Given the description of an element on the screen output the (x, y) to click on. 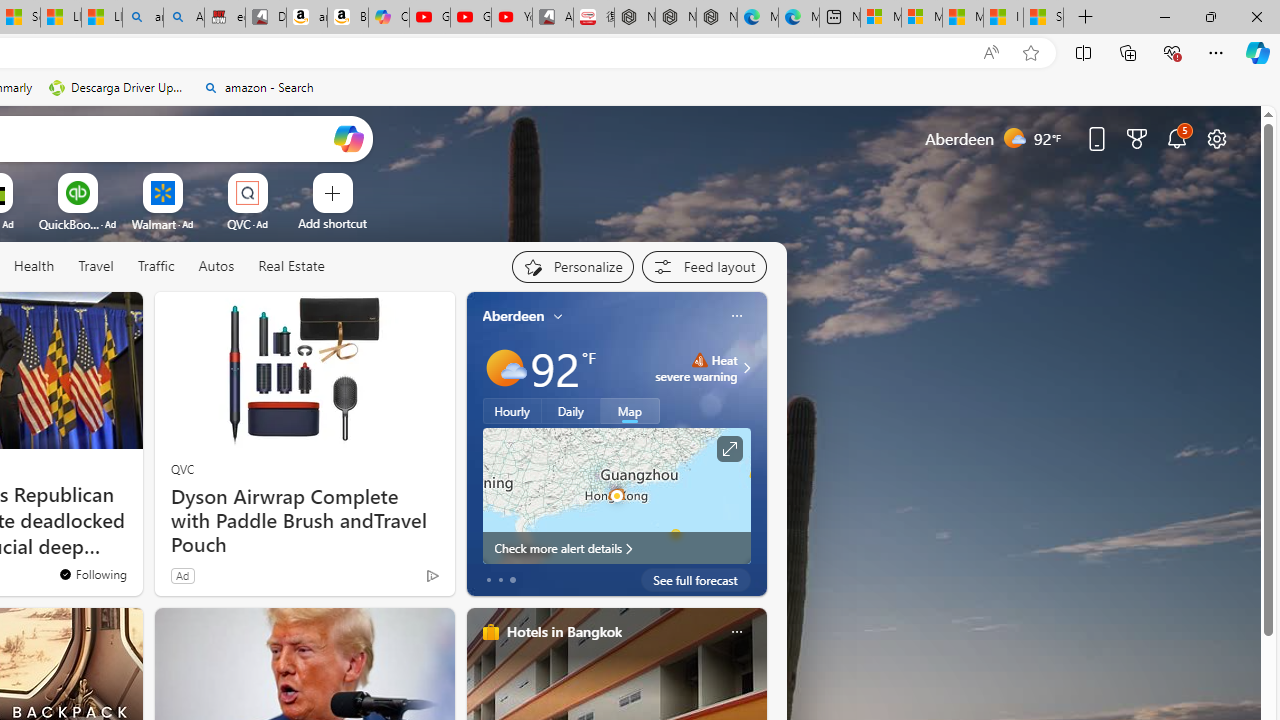
You're following FOX News (92, 573)
My location (558, 315)
next (756, 443)
Personalize your feed" (571, 266)
amazon.in/dp/B0CX59H5W7/?tag=gsmcom05-21 (306, 17)
Aberdeen (513, 315)
